Given the description of an element on the screen output the (x, y) to click on. 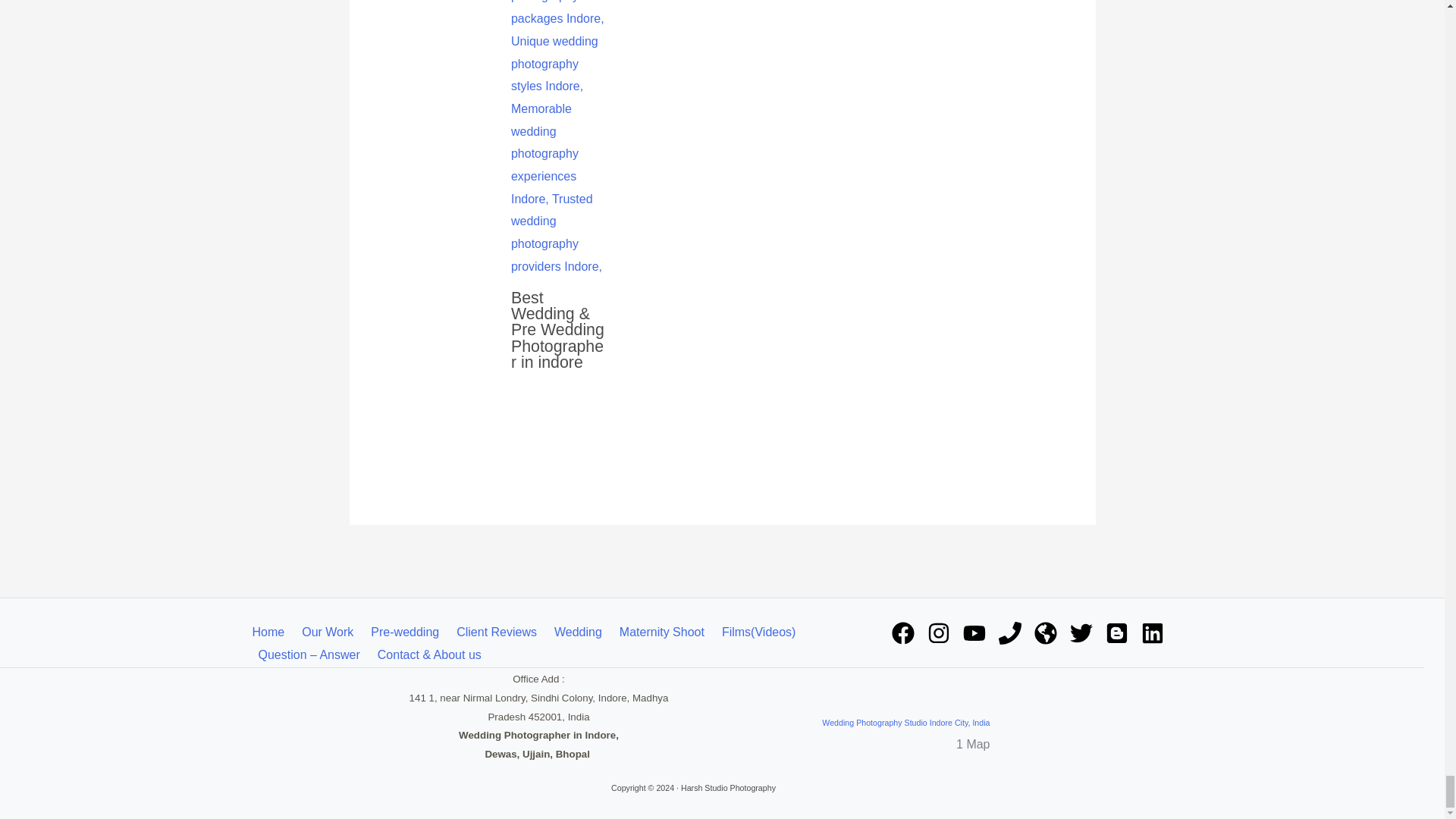
Wedding (580, 631)
Home (273, 631)
Our Work (330, 631)
Pre-wedding (407, 631)
Client Reviews (498, 631)
